Given the description of an element on the screen output the (x, y) to click on. 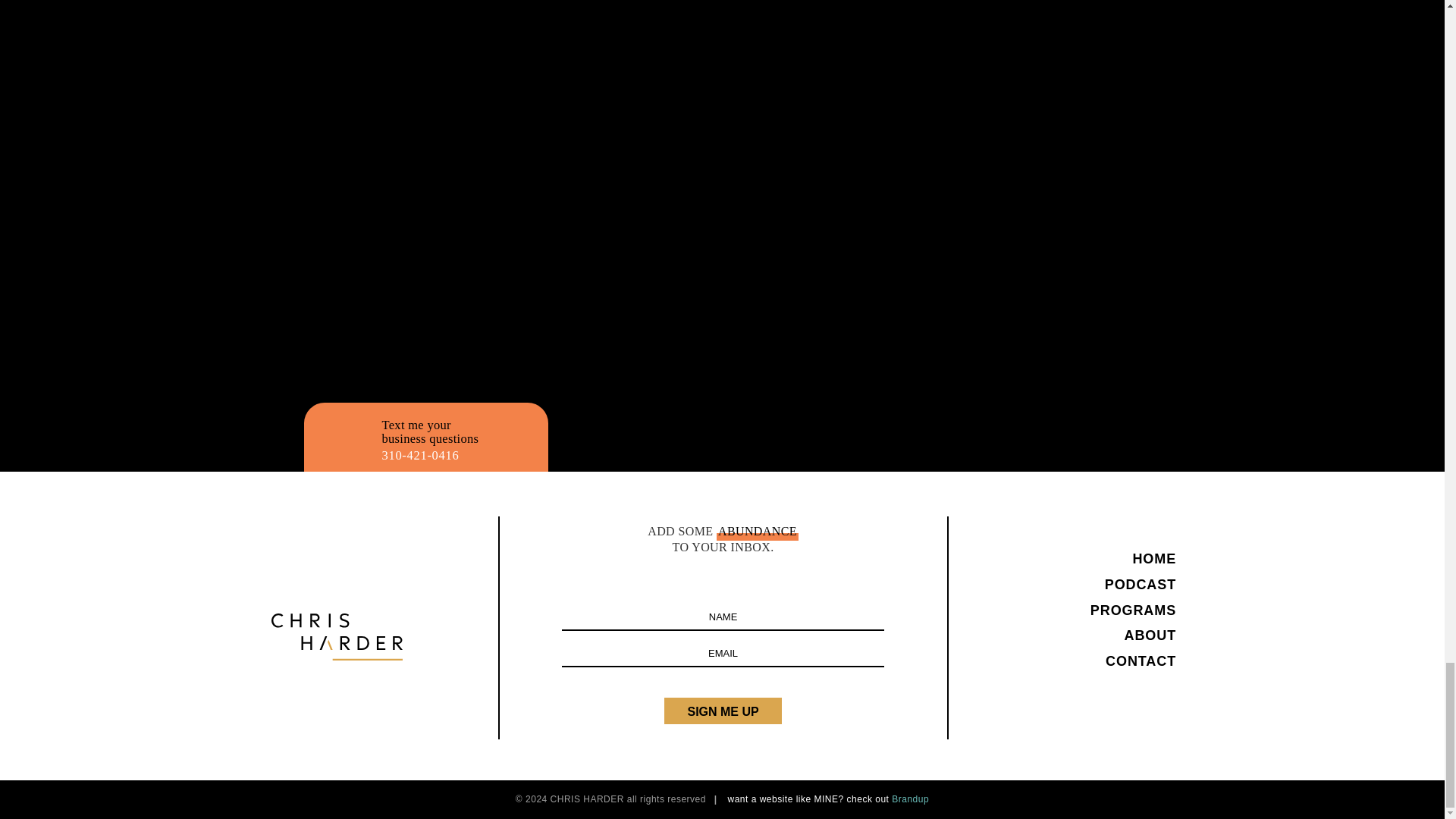
Sign me up (721, 710)
